Given the description of an element on the screen output the (x, y) to click on. 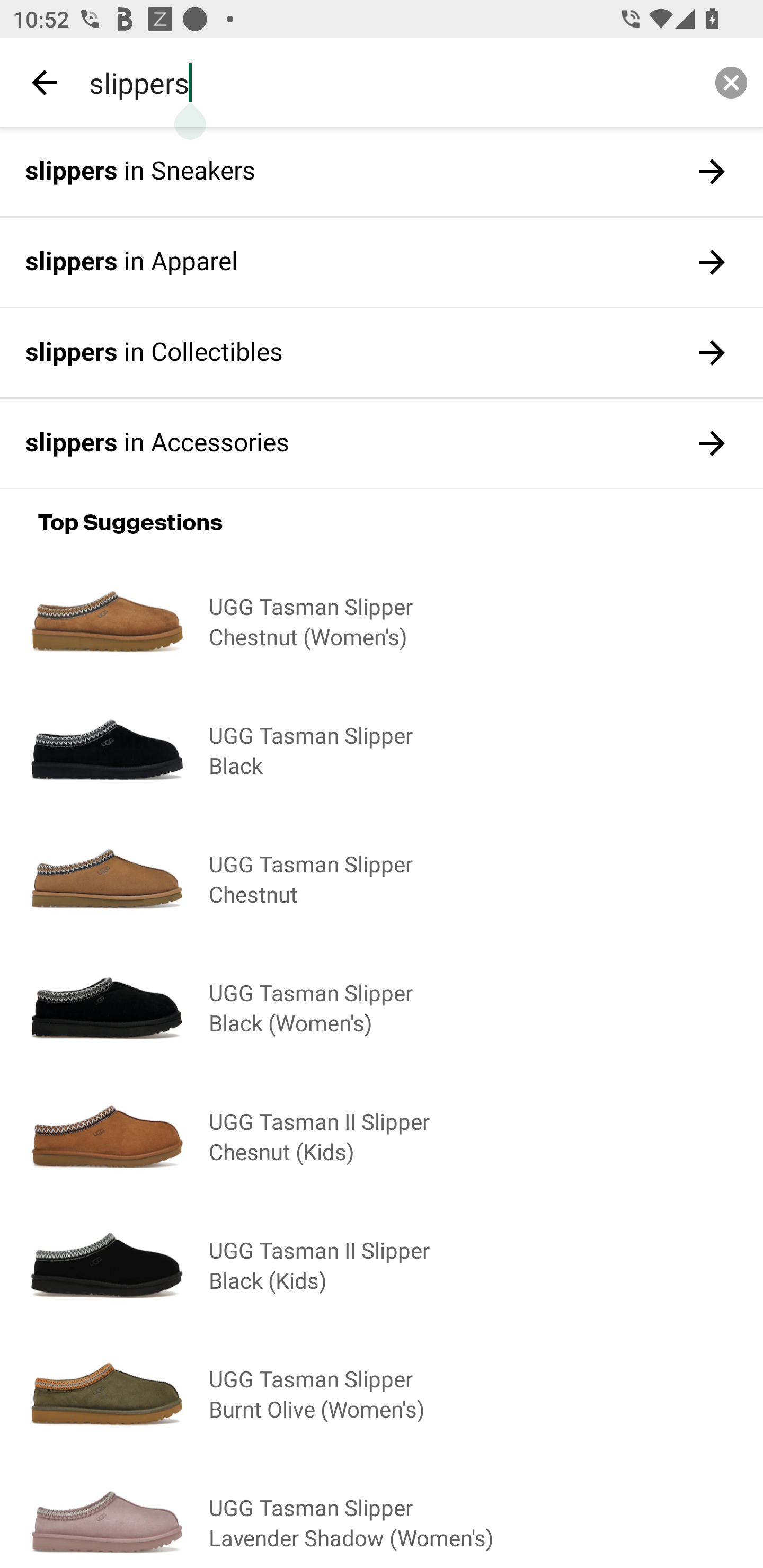
slippers (387, 82)
slippers in Sneakers Next (381, 171)
slippers in Apparel Next (381, 262)
slippers in Collectibles Next (381, 352)
slippers in Accessories Next (381, 442)
Product Image UGG Tasman Slipper Black (381, 749)
Product Image UGG Tasman Slipper Chestnut (381, 878)
Product Image UGG Tasman Slipper Black (Women's) (381, 1006)
Product Image UGG Tasman II Slipper Chesnut (Kids) (381, 1135)
Product Image UGG Tasman II Slipper Black (Kids) (381, 1264)
